Given the description of an element on the screen output the (x, y) to click on. 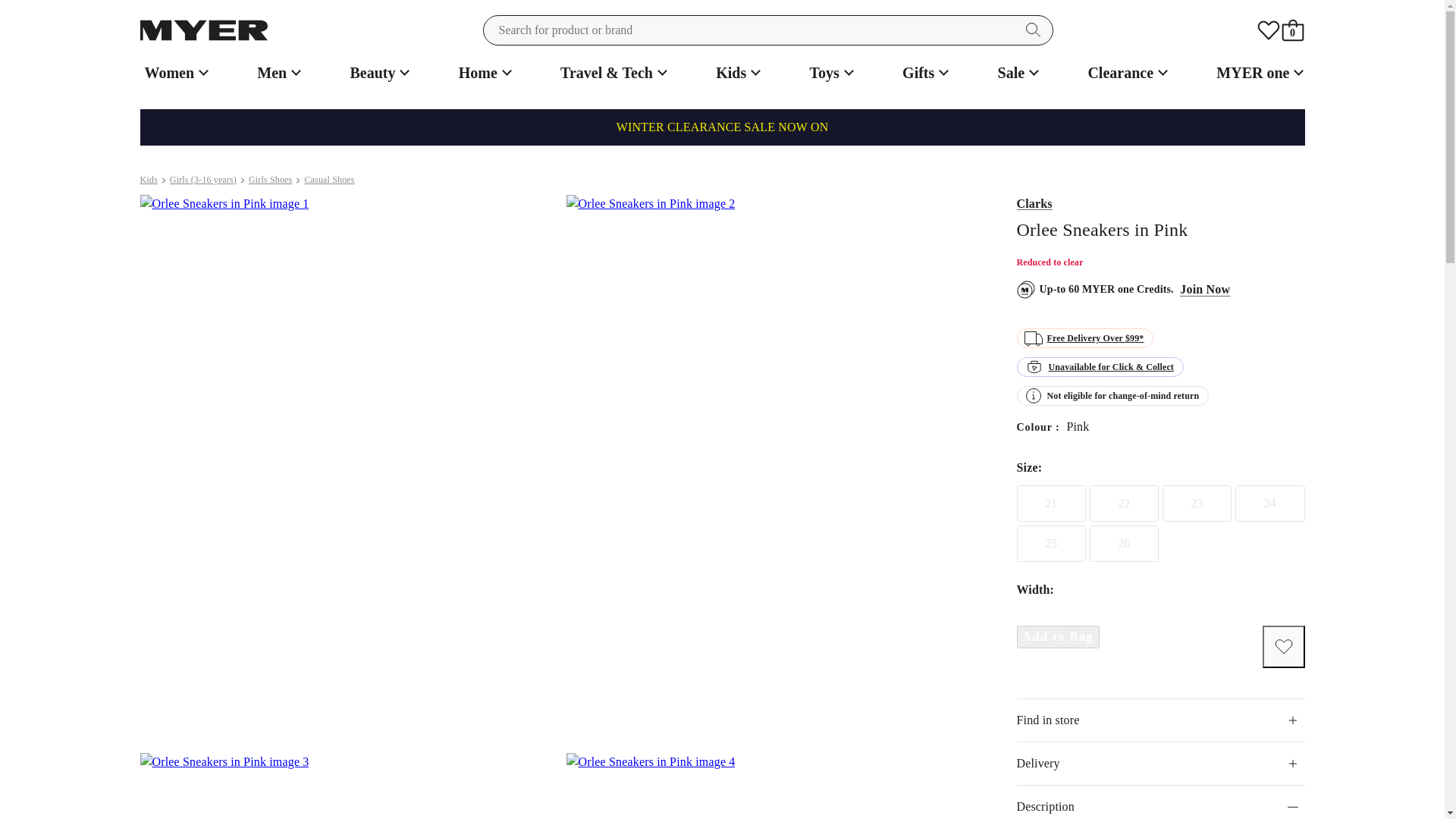
Beauty (377, 72)
Women (174, 72)
Men (276, 72)
Kids (736, 72)
0 (1291, 30)
Home (483, 72)
